Given the description of an element on the screen output the (x, y) to click on. 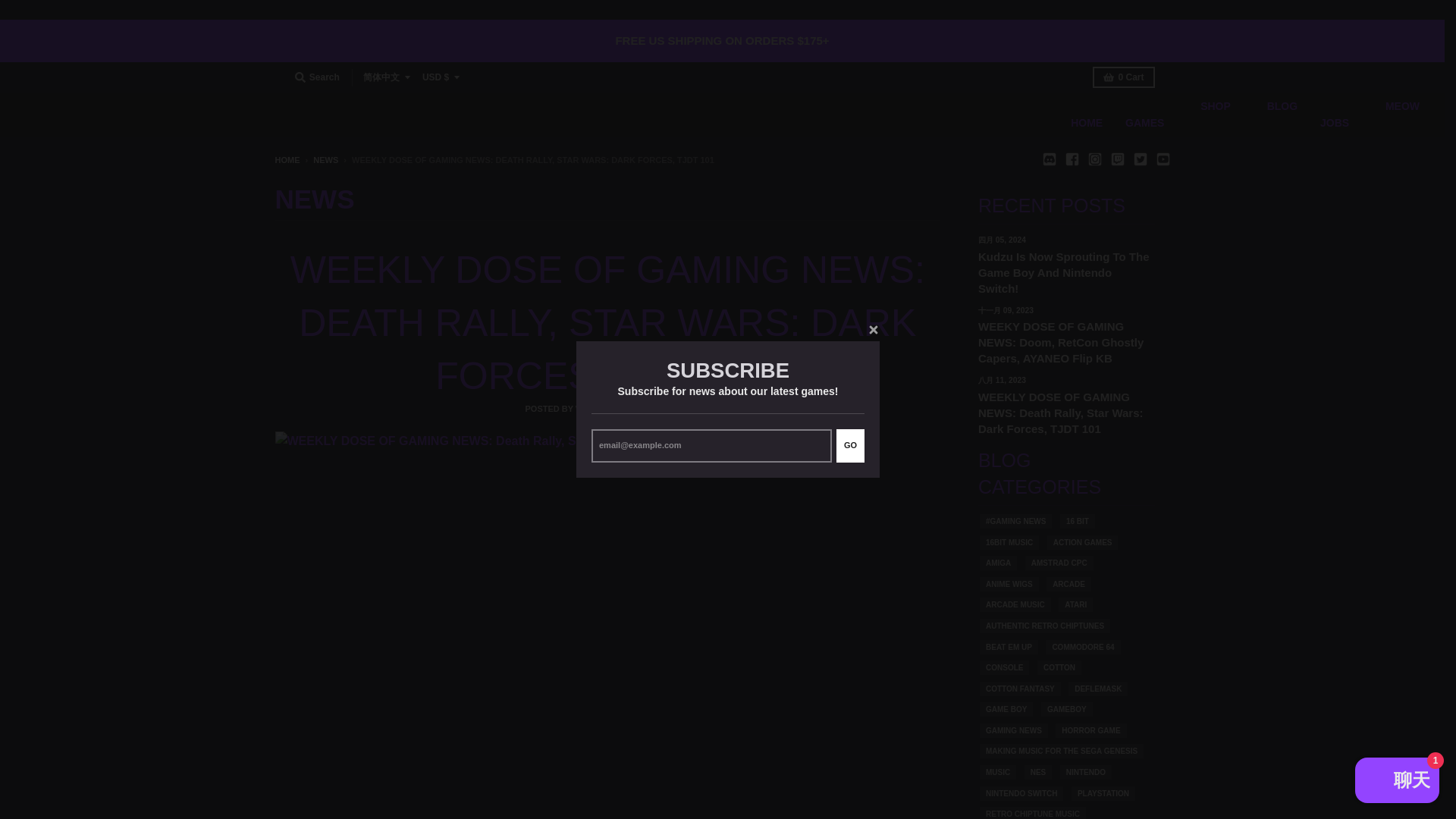
HOME (1086, 122)
Search (316, 76)
SHOP (1208, 114)
Back to the frontpage (287, 159)
0 Cart (1123, 76)
GO (849, 445)
BLOG (1275, 114)
GAMES (1144, 122)
